Given the description of an element on the screen output the (x, y) to click on. 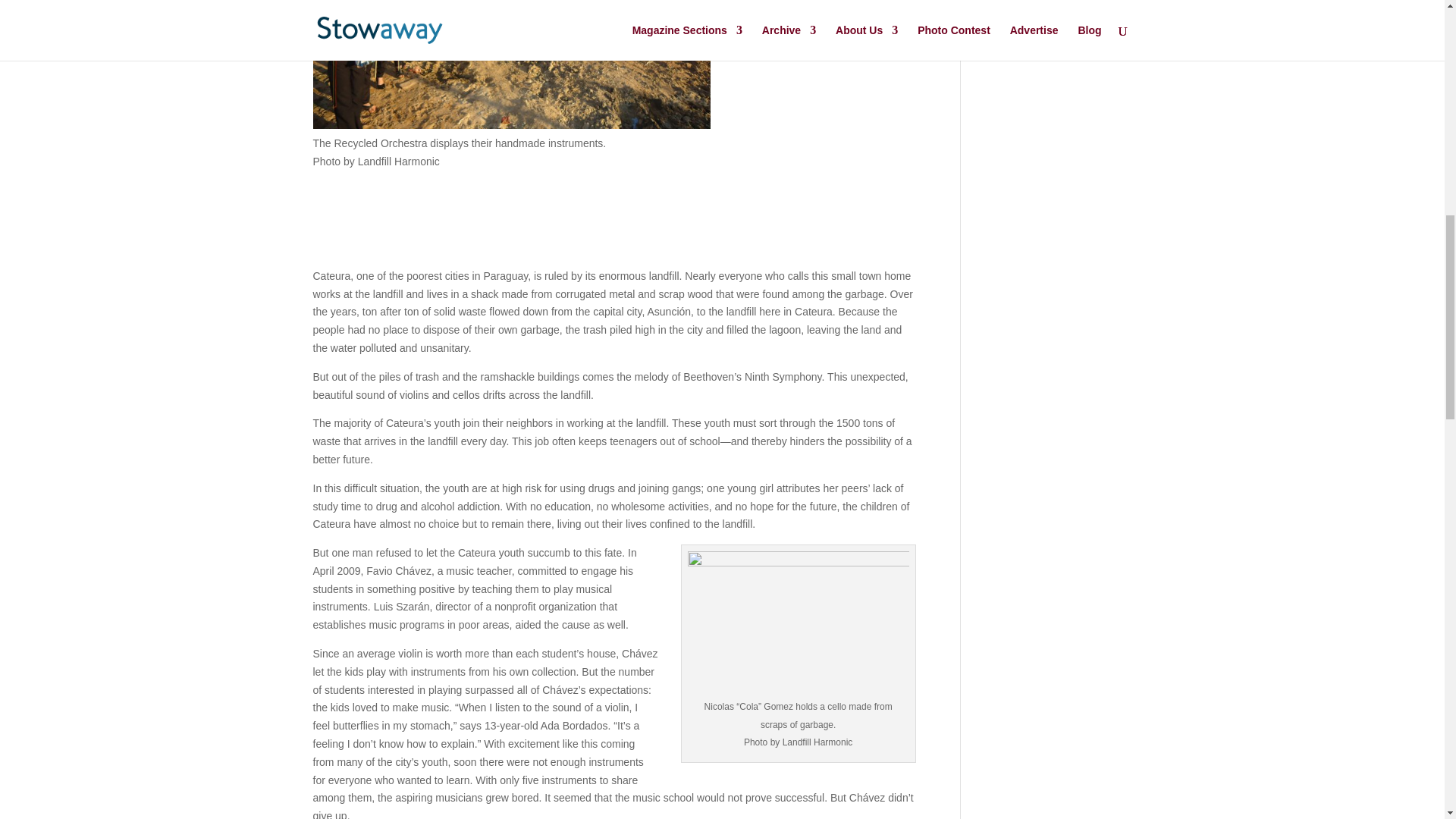
Recycled Orquestra Cateura (511, 64)
Nicolas Gomez (797, 624)
